Given the description of an element on the screen output the (x, y) to click on. 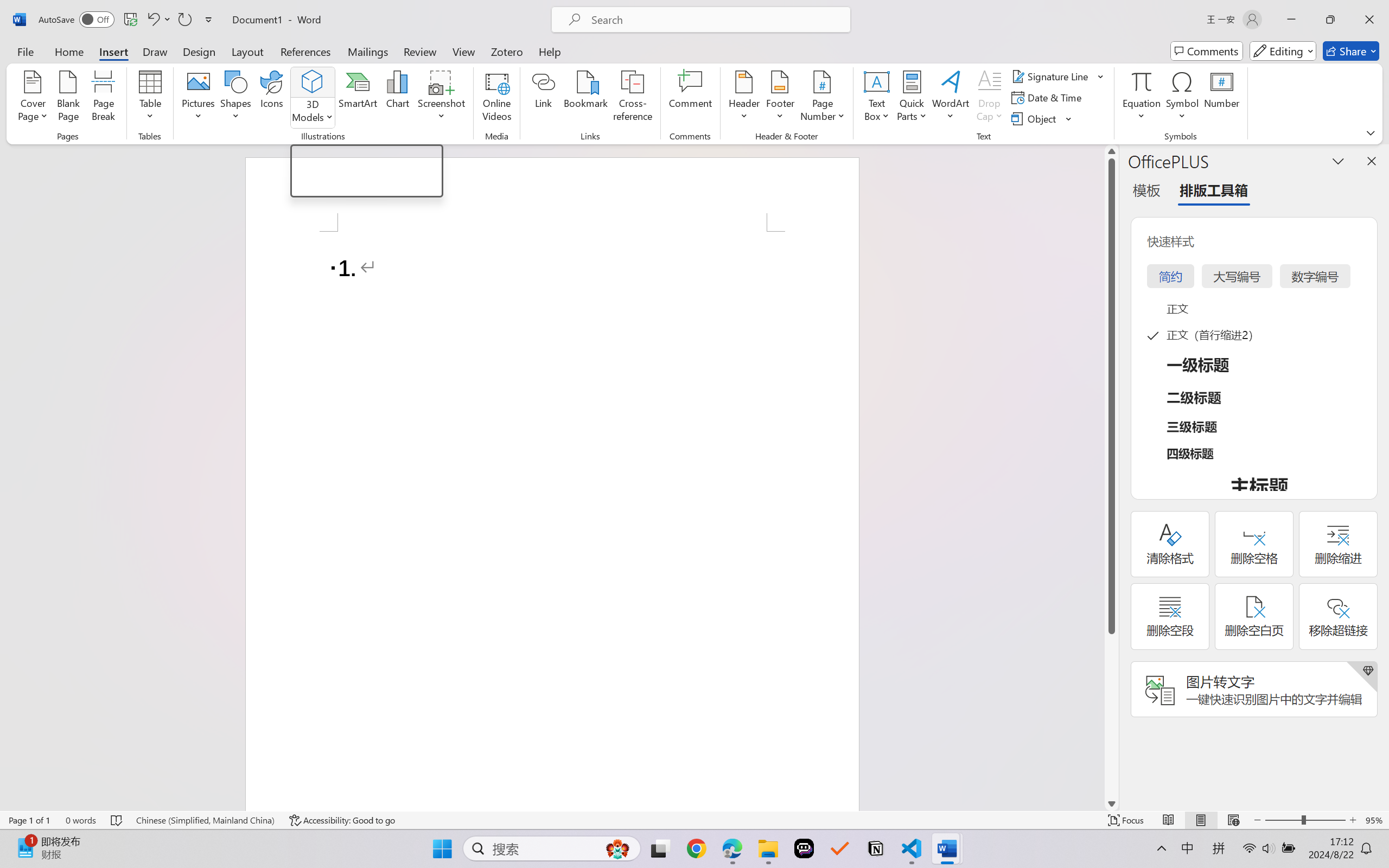
Page down (1111, 715)
Undo Number Default (158, 19)
Object... (1042, 118)
Page Break (103, 97)
Signature Line (1058, 75)
